Given the description of an element on the screen output the (x, y) to click on. 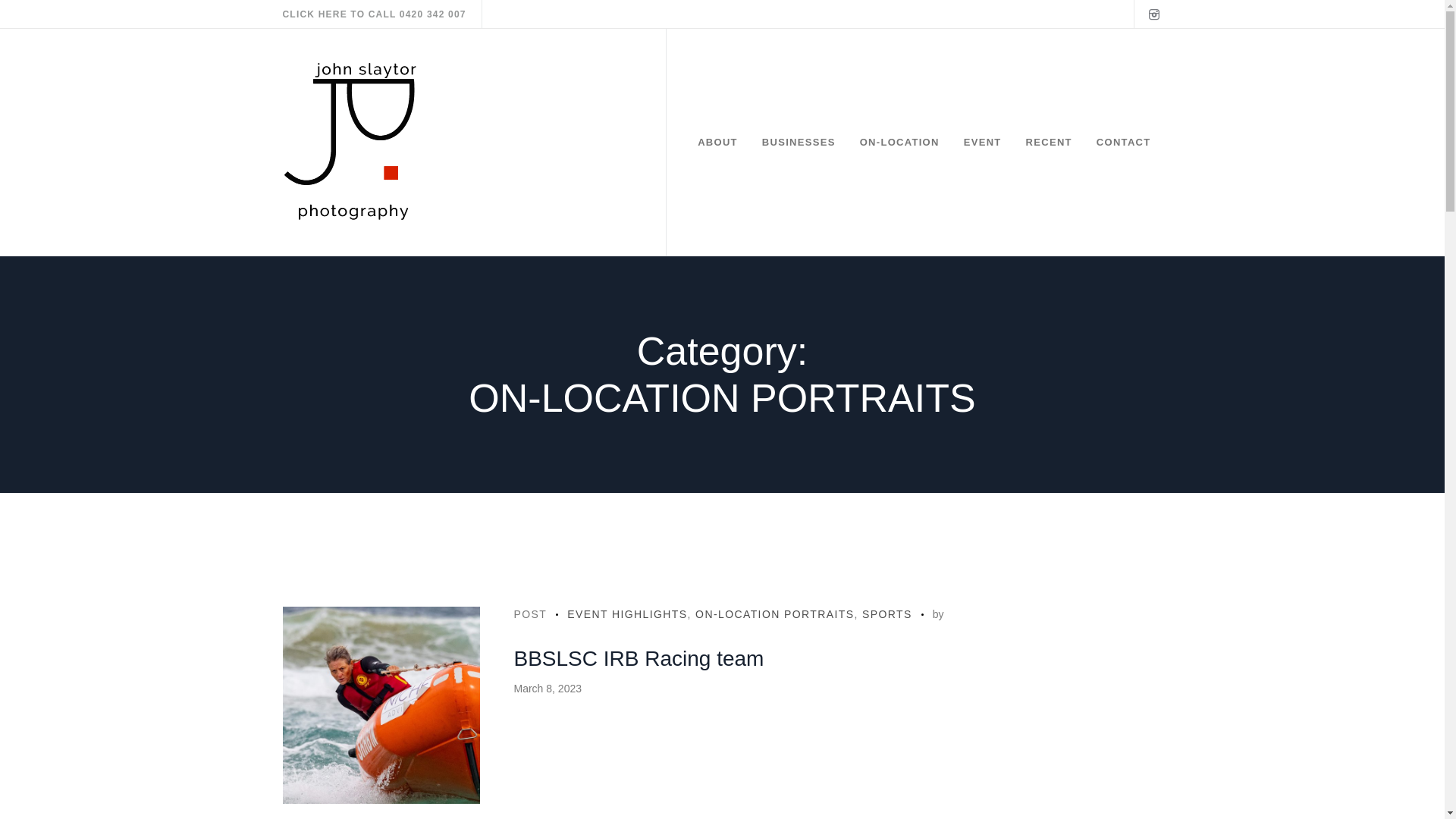
SPORTS Element type: text (887, 614)
Instagram Element type: hover (1153, 14)
BUSINESSES Element type: text (798, 141)
EVENT Element type: text (982, 141)
RECENT Element type: text (1048, 141)
CONTACT Element type: text (1123, 141)
EVENT HIGHLIGHTS Element type: text (627, 614)
ON-LOCATION PORTRAITS Element type: text (774, 614)
ON-LOCATION Element type: text (898, 141)
BBSLSC IRB Racing team Element type: text (639, 658)
CLICK HERE TO CALL 0420 342 007 Element type: text (373, 14)
BBSLSC IRB Racing team Element type: hover (380, 704)
ABOUT Element type: text (717, 141)
